Given the description of an element on the screen output the (x, y) to click on. 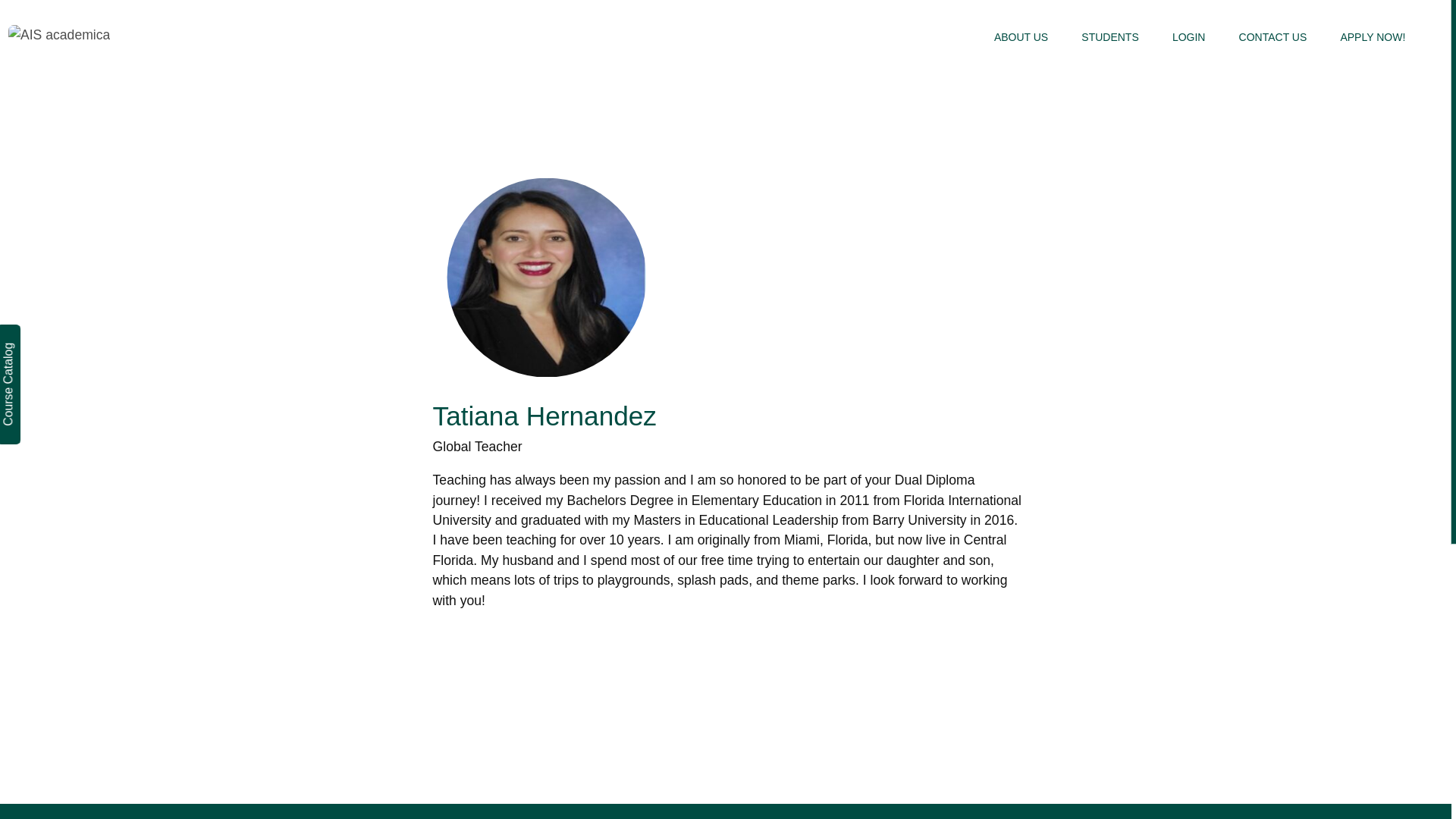
STUDENTS (1109, 37)
ABOUT US (1021, 37)
